Given the description of an element on the screen output the (x, y) to click on. 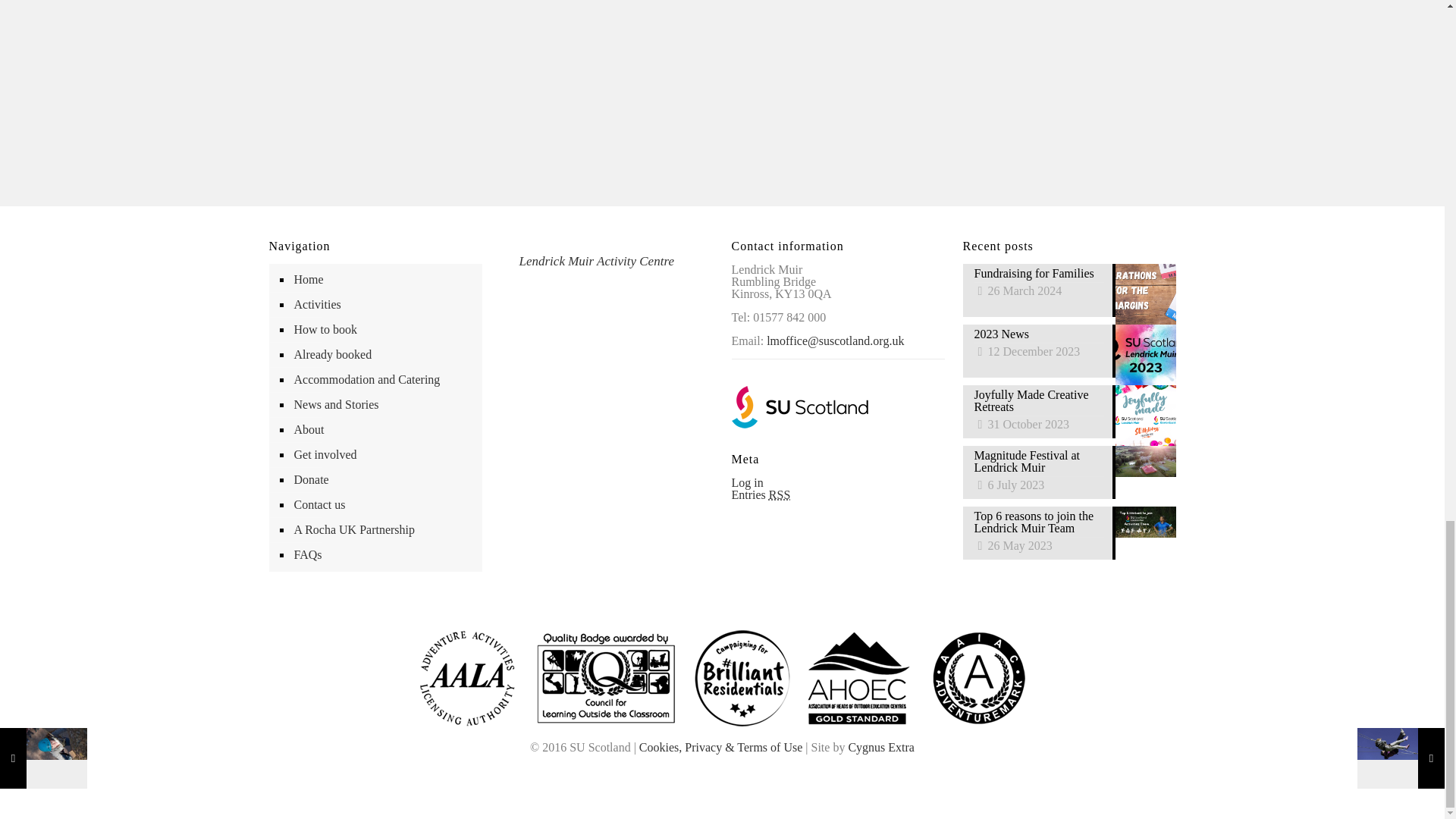
Facebook (689, 767)
Really Simple Syndication (779, 494)
YouTube (722, 767)
Instagram (738, 767)
RSS (754, 767)
